Given the description of an element on the screen output the (x, y) to click on. 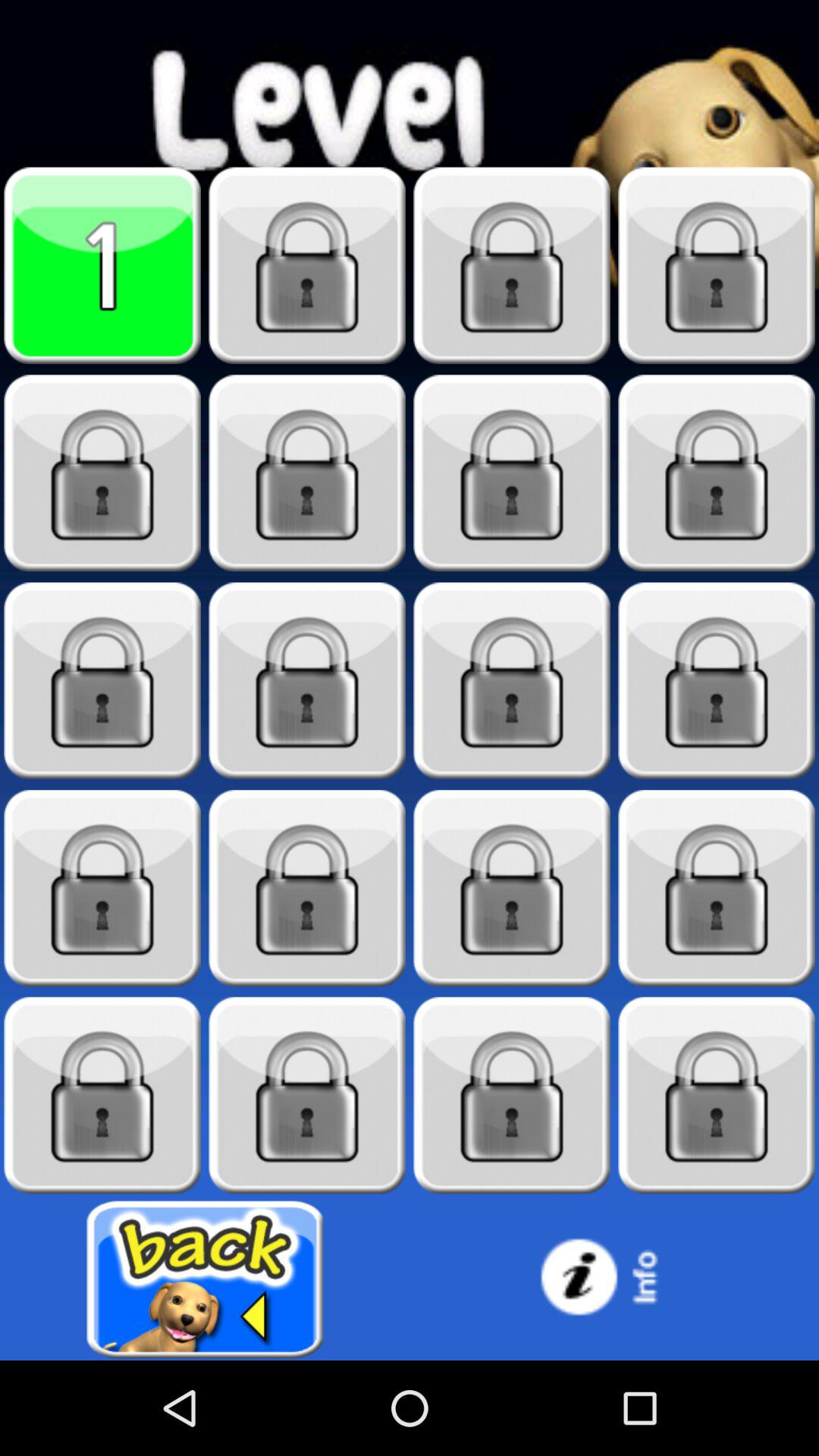
level locked (511, 1094)
